Given the description of an element on the screen output the (x, y) to click on. 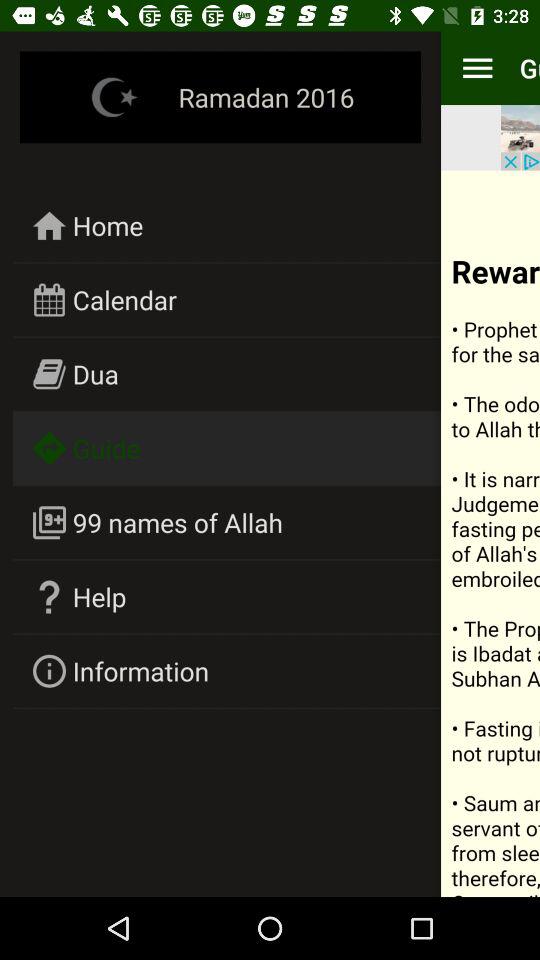
flip until the calendar item (124, 299)
